Given the description of an element on the screen output the (x, y) to click on. 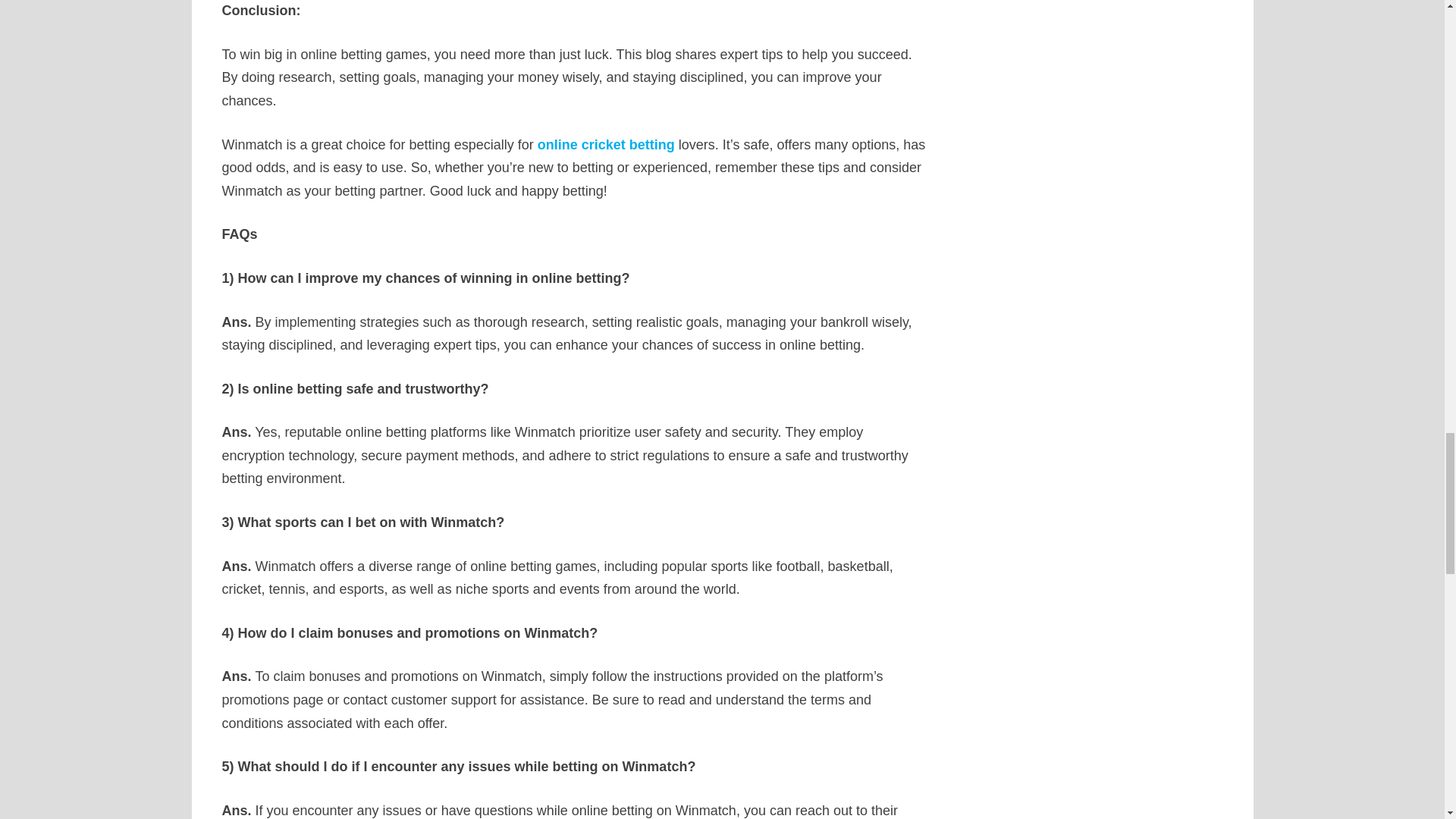
online cricket betting (606, 144)
